Given the description of an element on the screen output the (x, y) to click on. 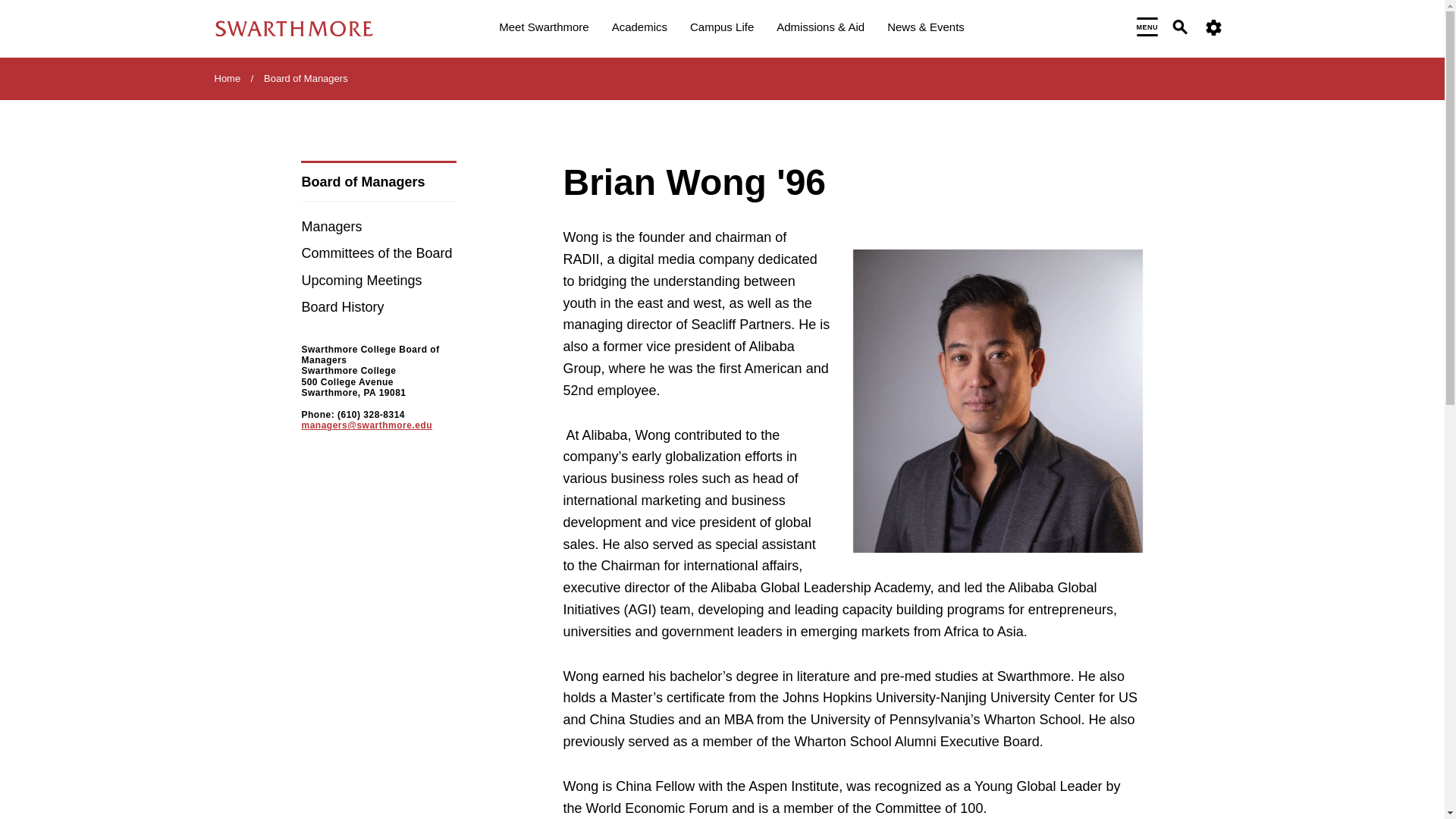
Campus Life (722, 28)
Academics (638, 28)
Meet Swarthmore (543, 28)
